Given the description of an element on the screen output the (x, y) to click on. 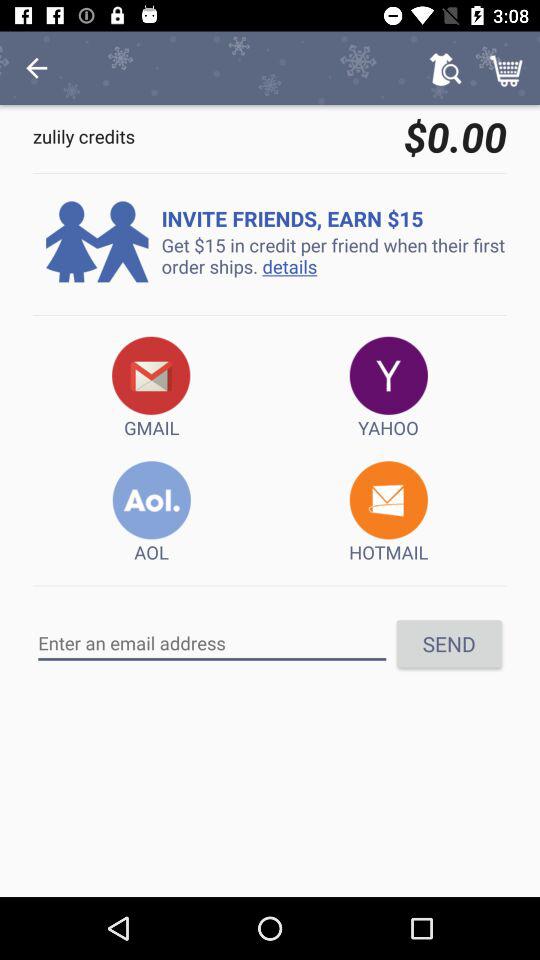
launch the icon to the left of yahoo icon (151, 388)
